Given the description of an element on the screen output the (x, y) to click on. 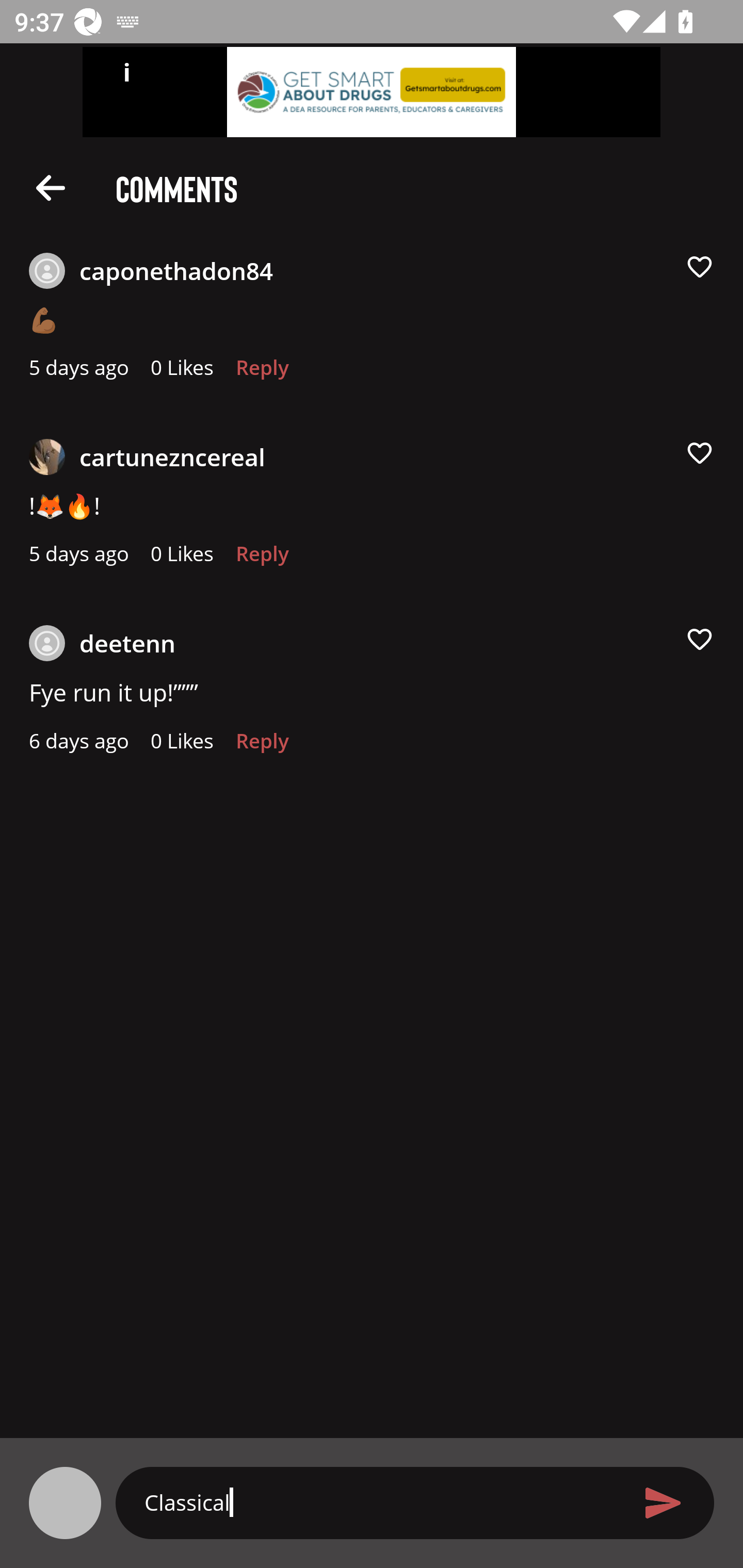
Description (50, 187)
Reply (261, 372)
Reply (261, 558)
Reply (261, 746)
Classical (378, 1502)
